Given the description of an element on the screen output the (x, y) to click on. 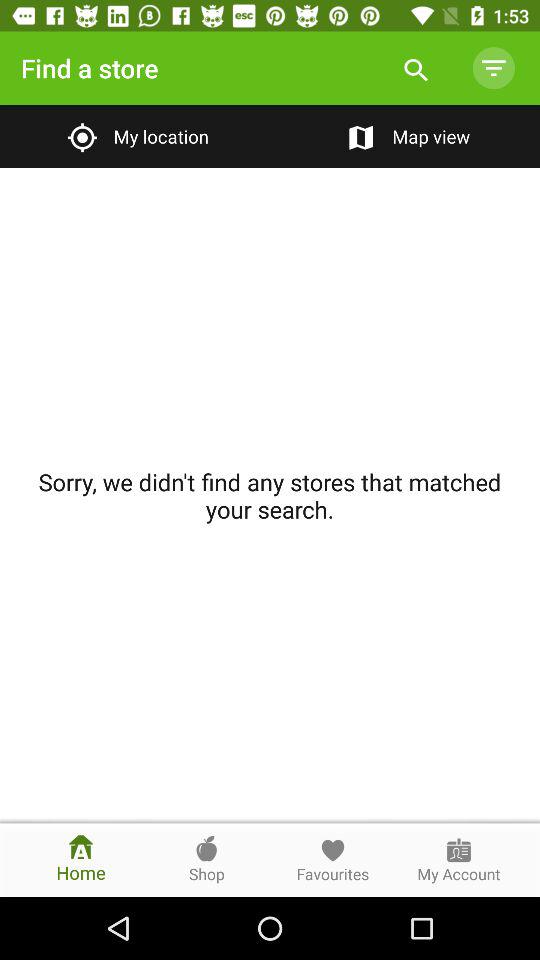
launch icon above map view icon (493, 68)
